Given the description of an element on the screen output the (x, y) to click on. 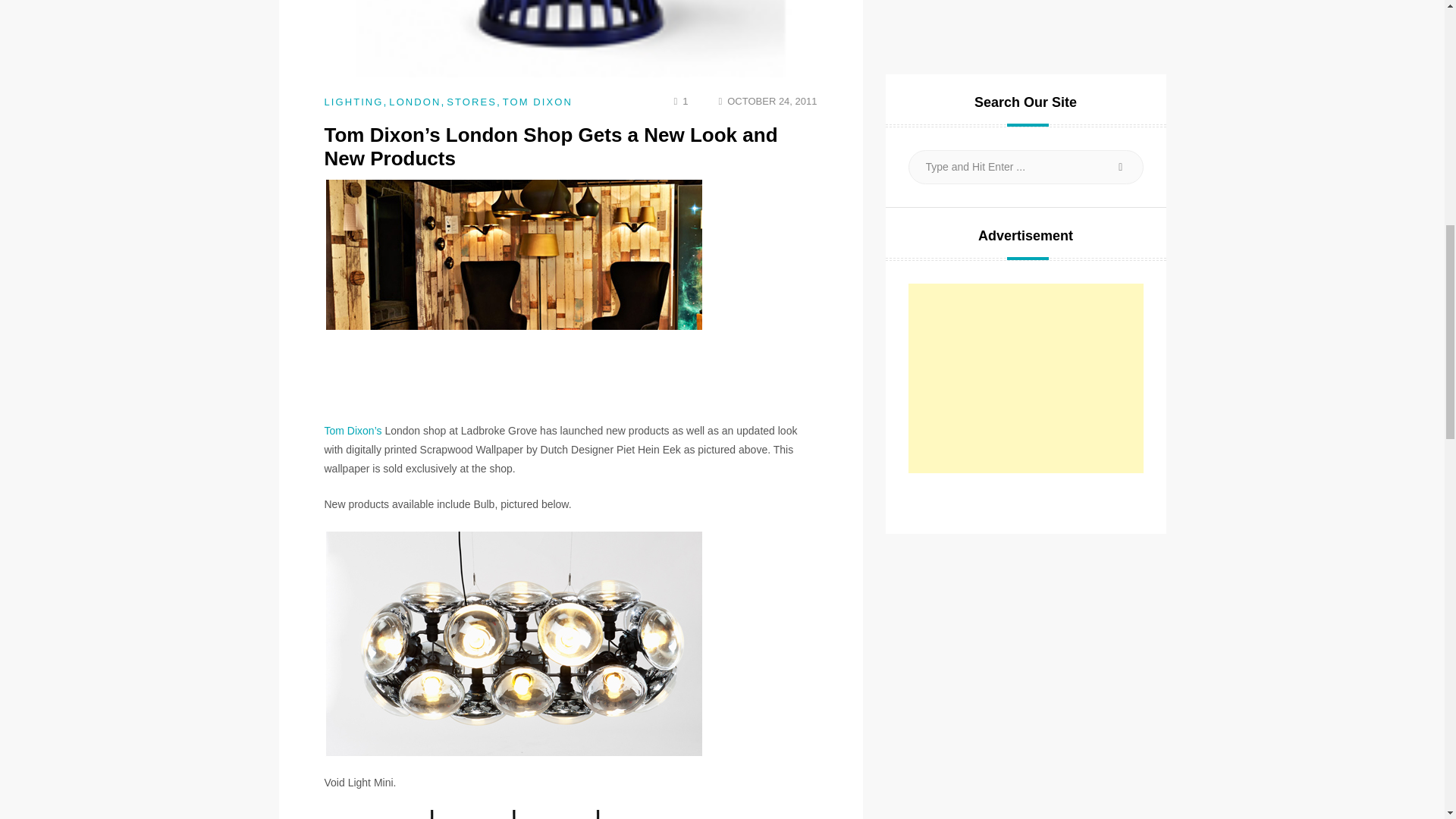
LIGHTING (354, 101)
LONDON (414, 101)
Tom Dixon's London Shop at Ladbroke Grove (513, 643)
Tom Dixon's London Shop at Ladbroke Grove (513, 291)
Tom Dixon's London Shop at Ladbroke Grove (513, 813)
TOM DIXON (537, 101)
STORES (471, 101)
